Given the description of an element on the screen output the (x, y) to click on. 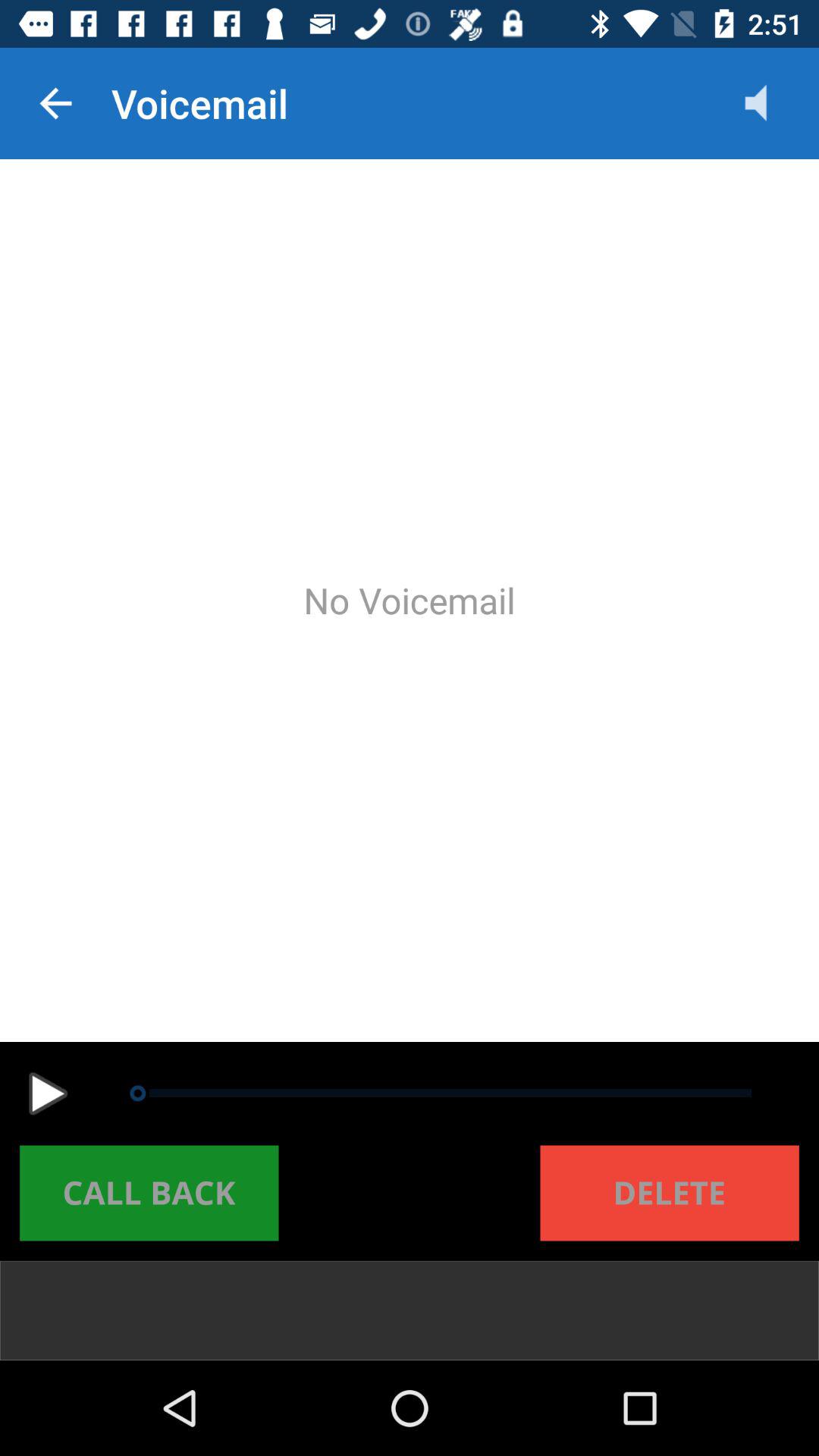
tap item below no voicemail (47, 1093)
